Given the description of an element on the screen output the (x, y) to click on. 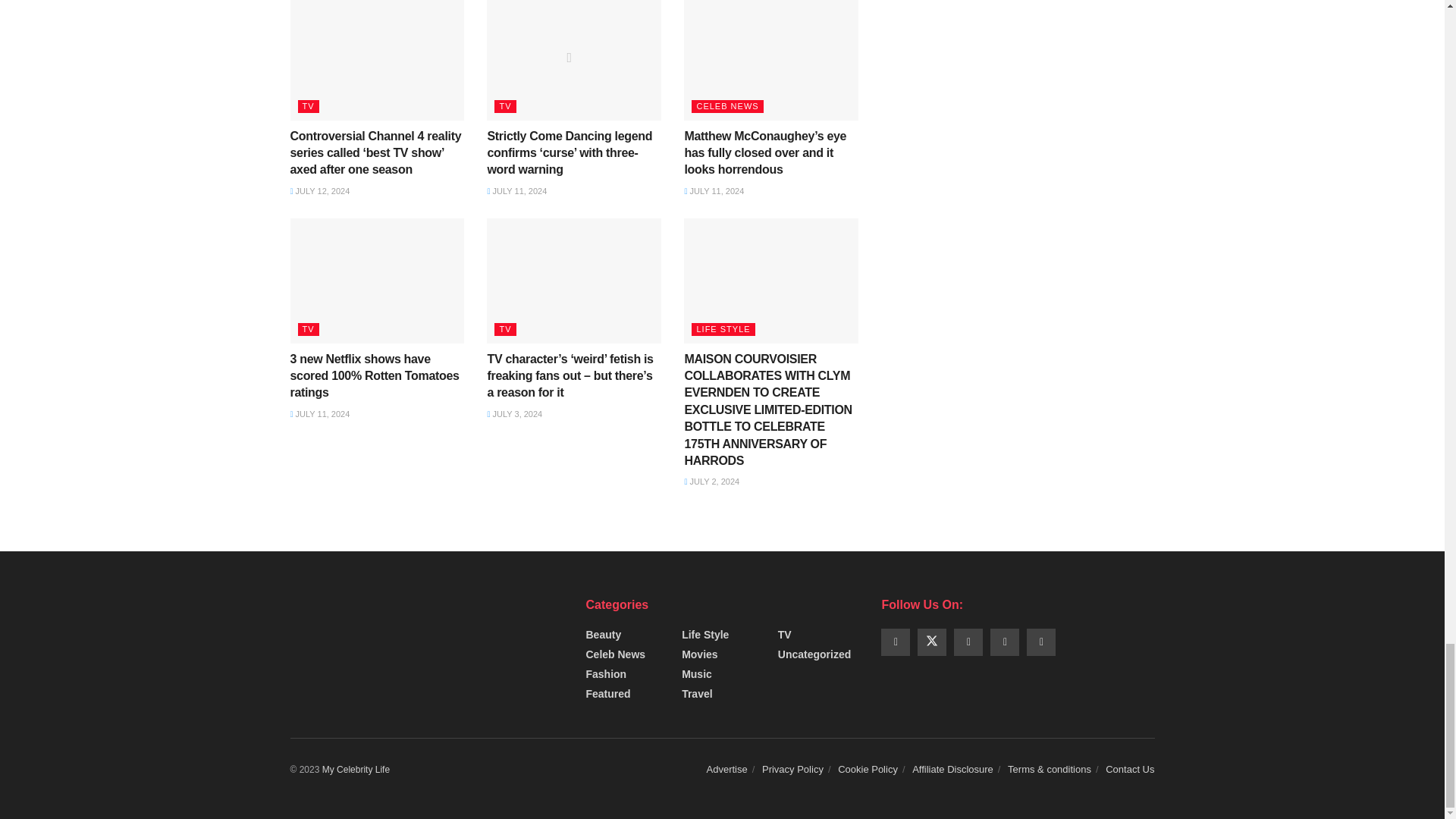
My Celebrity Life (355, 769)
